Given the description of an element on the screen output the (x, y) to click on. 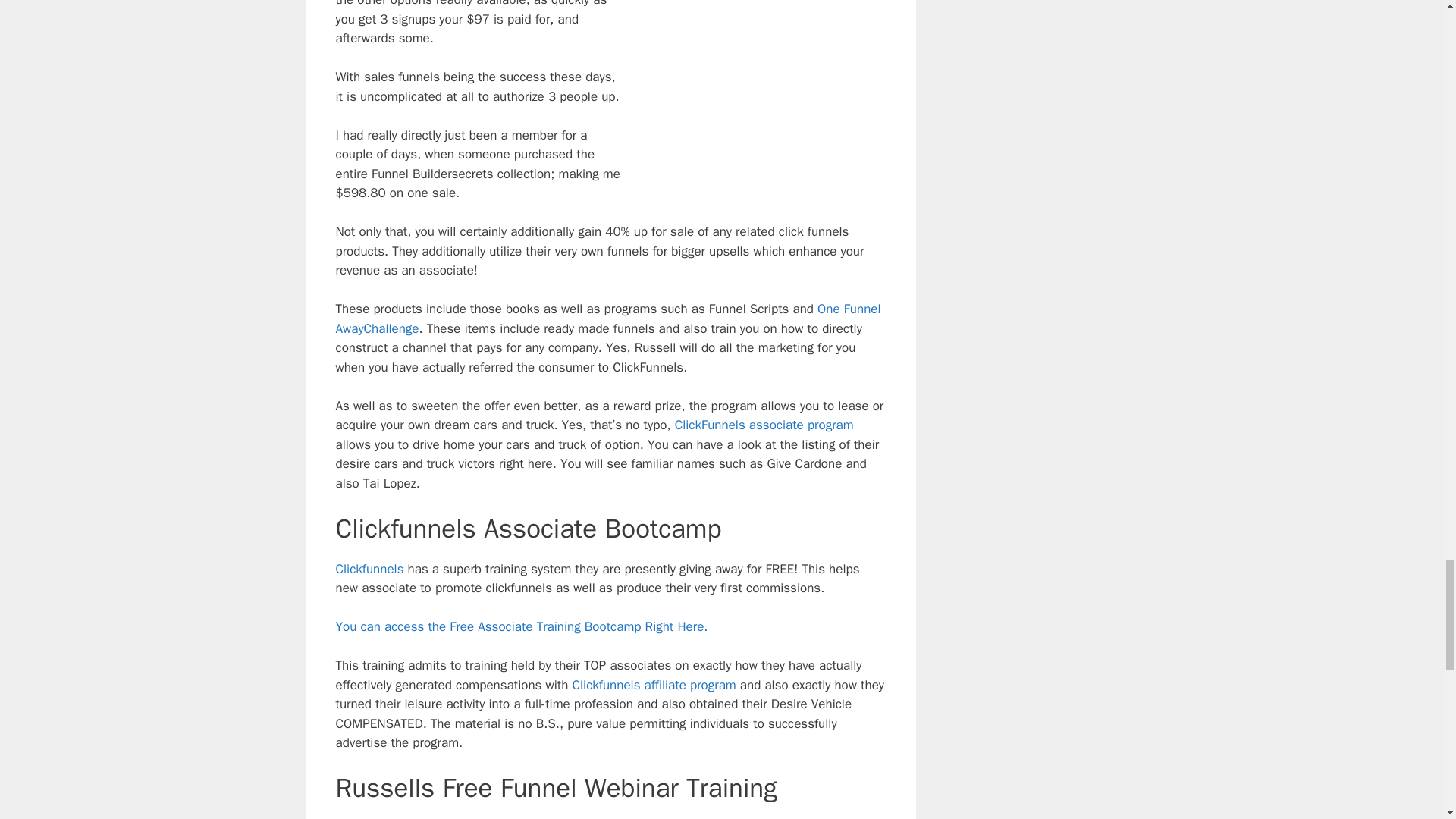
ClickFunnels associate program (764, 424)
One Funnel AwayChallenge (607, 318)
